Given the description of an element on the screen output the (x, y) to click on. 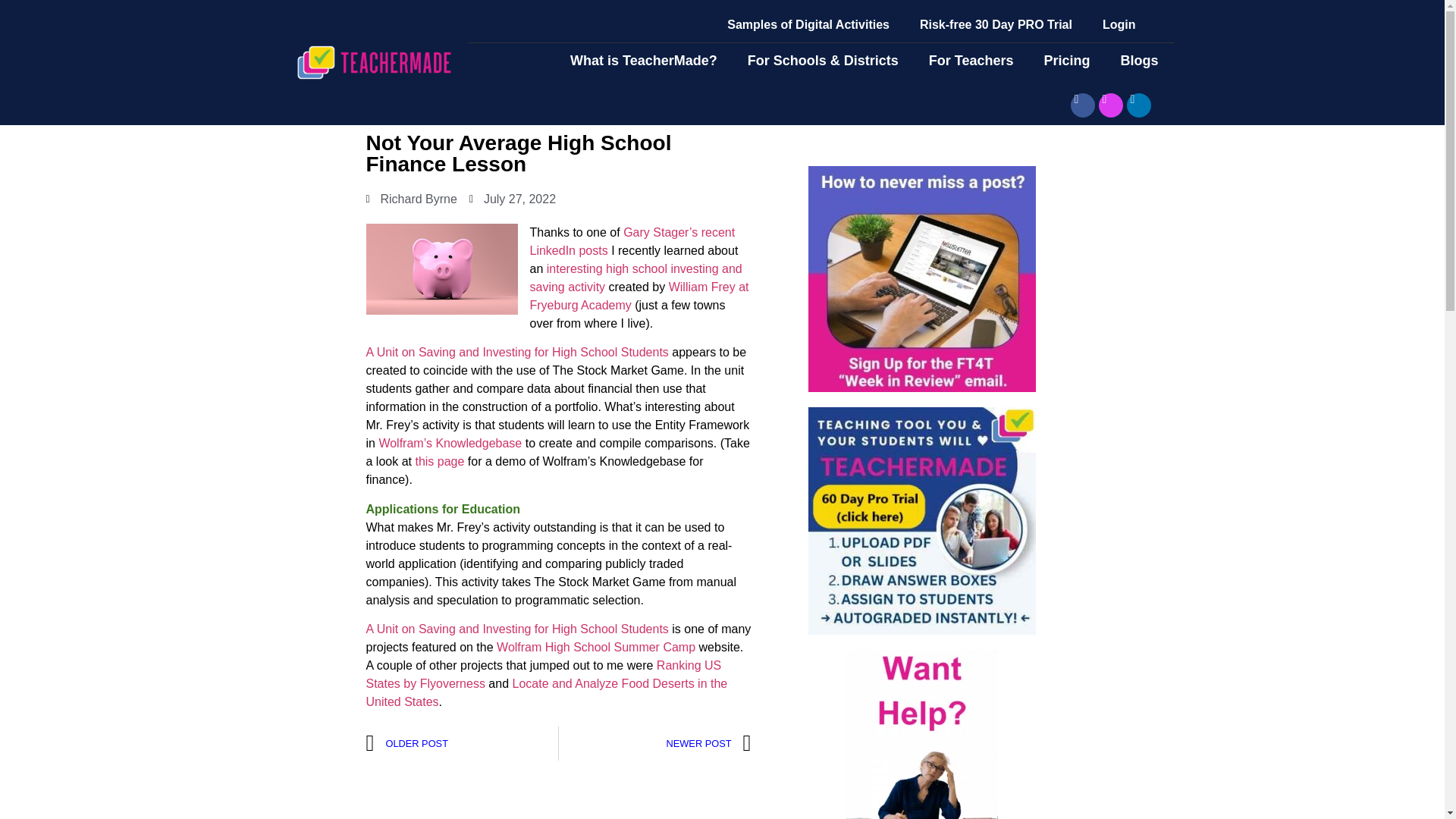
Blogs (1139, 60)
What is TeacherMade? (643, 60)
For Teachers (971, 60)
Pricing (1066, 60)
Samples of Digital Activities (807, 24)
Risk-free 30 Day PRO Trial (995, 24)
Login (1119, 24)
